Given the description of an element on the screen output the (x, y) to click on. 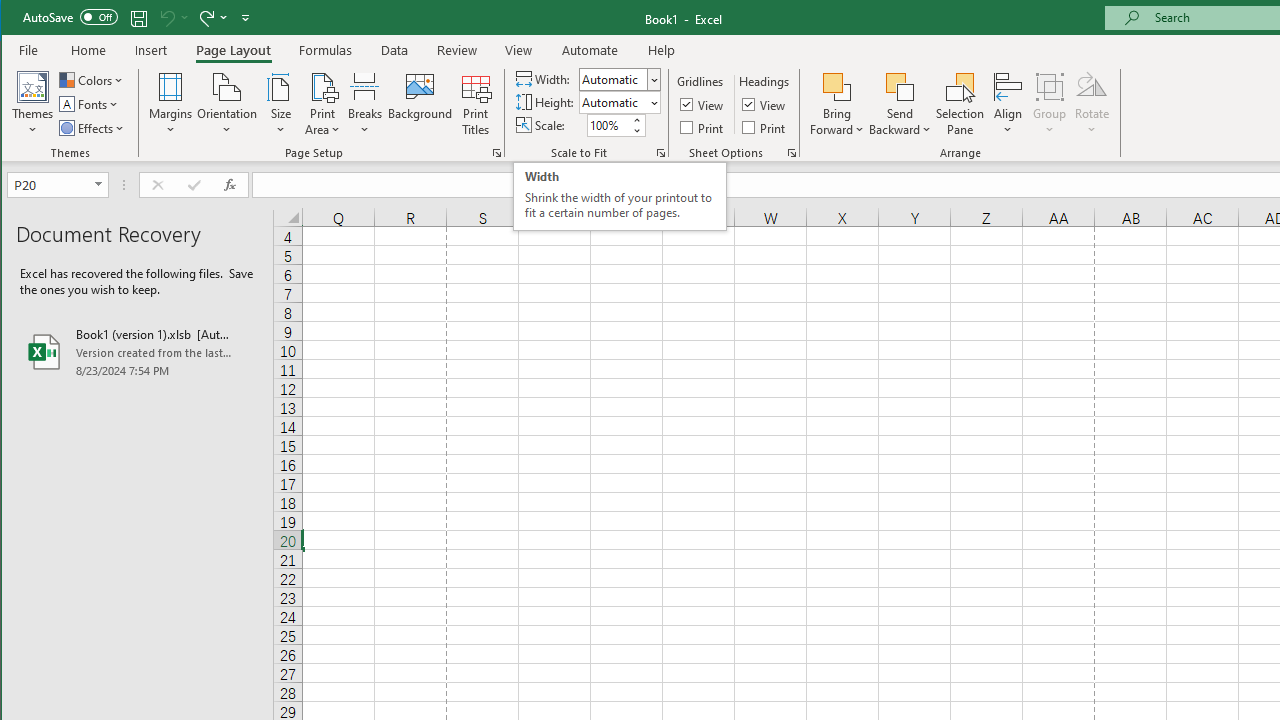
Group (1050, 104)
Bring Forward (836, 86)
Send Backward (900, 86)
More (636, 120)
Height (619, 101)
Print (765, 126)
Height (612, 102)
